Given the description of an element on the screen output the (x, y) to click on. 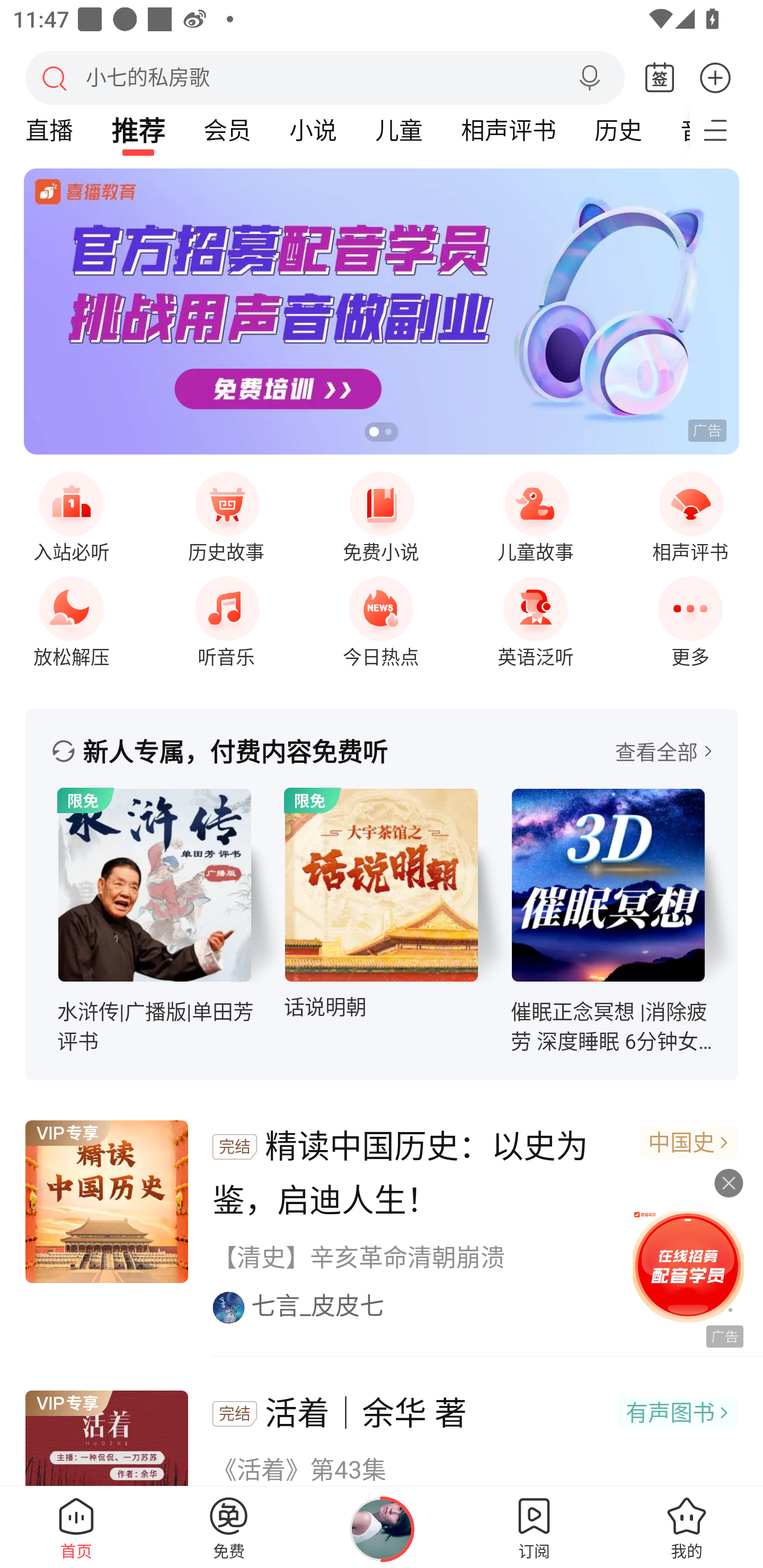
搜索 小七的私房歌 语音搜索 (324, 77)
更多 (714, 77)
签到 (659, 78)
语音搜索 (589, 78)
直播 (49, 130)
推荐 (138, 130)
会员 (227, 130)
小说 (313, 130)
儿童 (398, 130)
相声评书 (508, 130)
历史 (618, 130)
更多频道 (726, 130)
急招500名配音爱好者 (381, 310)
入站必听 (71, 514)
历史故事 (226, 514)
免费小说 (380, 514)
儿童故事 (535, 514)
相声评书 (689, 514)
放松解压 (71, 616)
听音乐 (226, 616)
今日热点 (380, 616)
英语泛听 (535, 616)
更多 (689, 616)
查看全部 (662, 750)
专辑名：话说明朝，播放量：3亿新品限免 专辑图标 专辑标签 话说明朝 (396, 911)
专辑图标 (154, 885)
专辑图标 (381, 885)
专辑图标 (607, 885)
完结 精读中国历史：以史为鉴，启迪人生！ 中国史    【清史】辛亥革命清朝崩溃 七言_皮皮七 (381, 1222)
关闭 关闭广告 广告 (685, 1263)
关闭广告 (718, 1182)
完结 活着｜余华 著 有声图书    《活着》第43集 (381, 1424)
首页 (76, 1526)
免费 (228, 1526)
订阅 (533, 1526)
我的 (686, 1526)
正在播放Alpha-橘子海OrangeOcean，点击后打开播放页 (381, 1529)
